Given the description of an element on the screen output the (x, y) to click on. 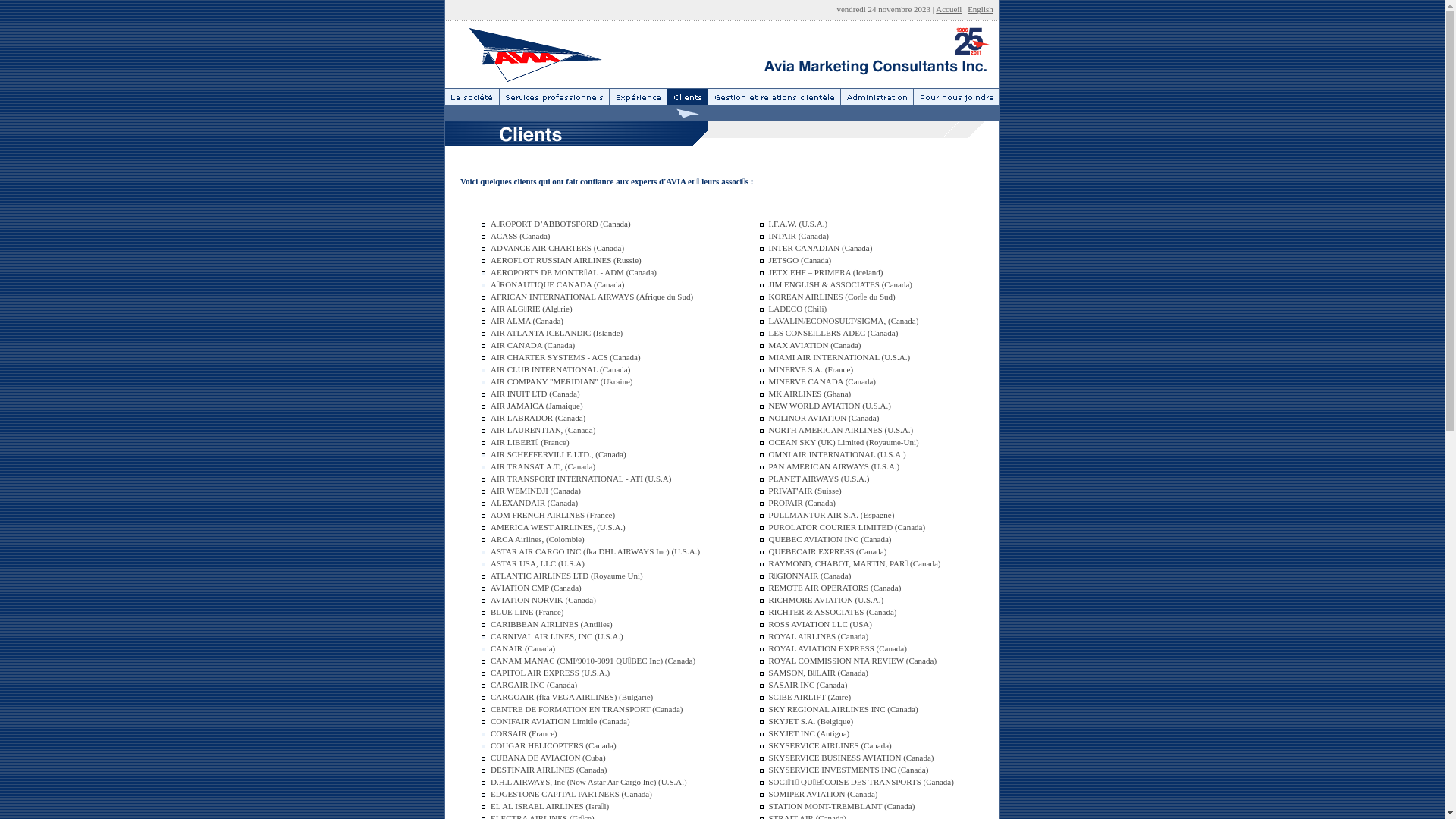
Accueil Element type: text (948, 8)
English Element type: text (980, 8)
